Given the description of an element on the screen output the (x, y) to click on. 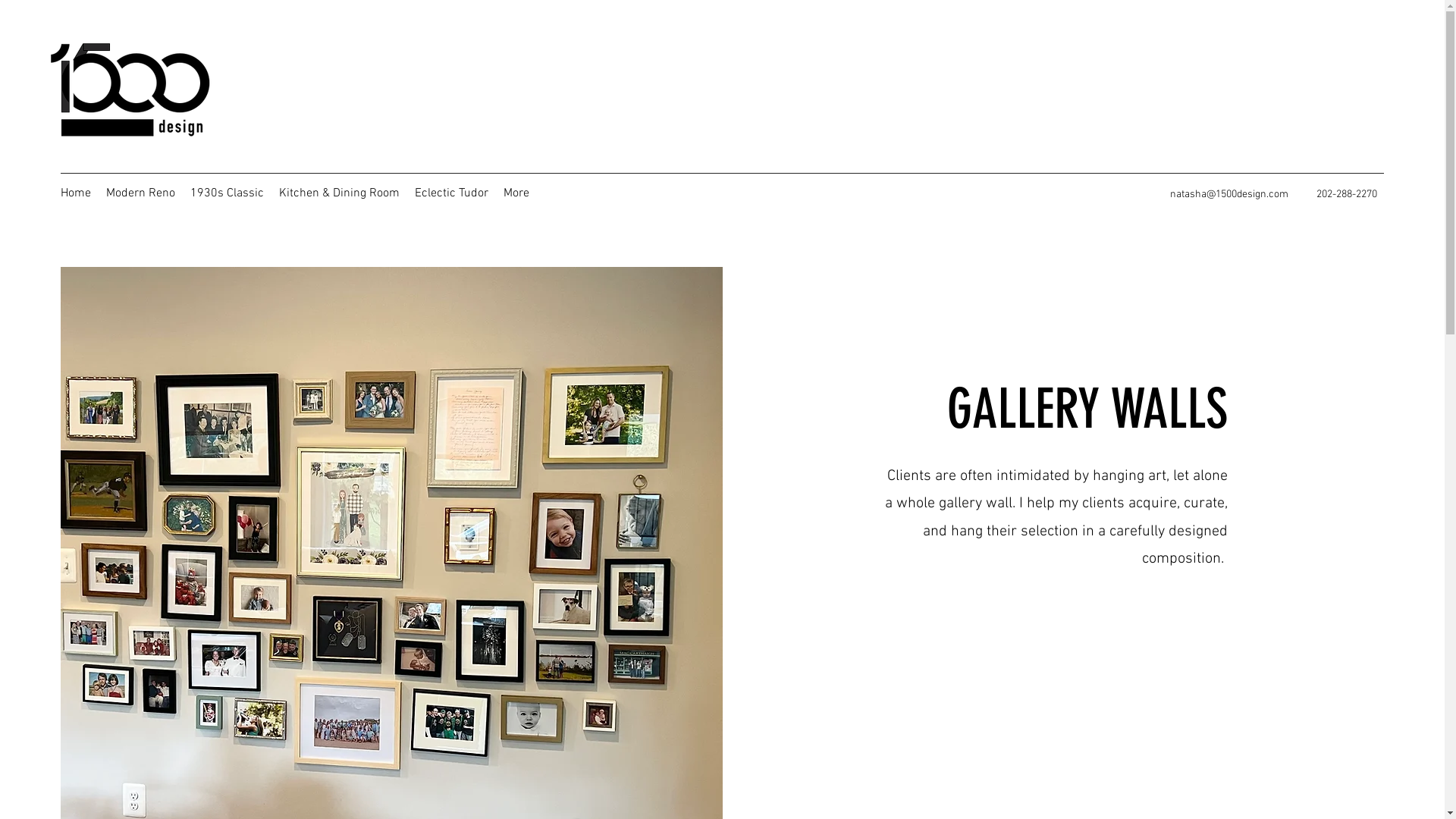
Modern Reno Element type: text (140, 193)
natasha@1500design.com Element type: text (1229, 194)
Eclectic Tudor Element type: text (451, 193)
1930s Classic Element type: text (226, 193)
Kitchen & Dining Room Element type: text (339, 193)
Home Element type: text (75, 193)
